Given the description of an element on the screen output the (x, y) to click on. 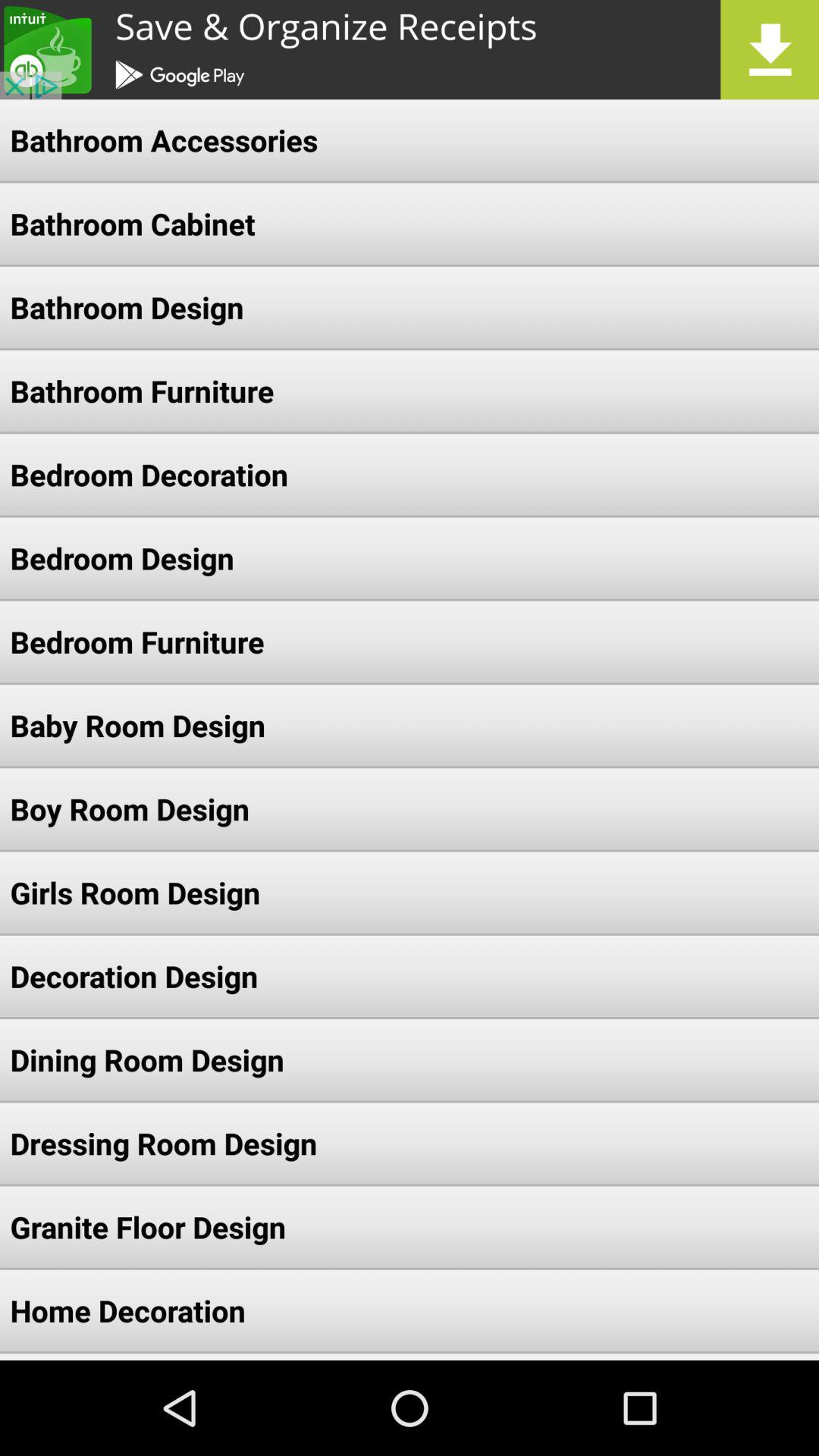
share the article (409, 49)
